Given the description of an element on the screen output the (x, y) to click on. 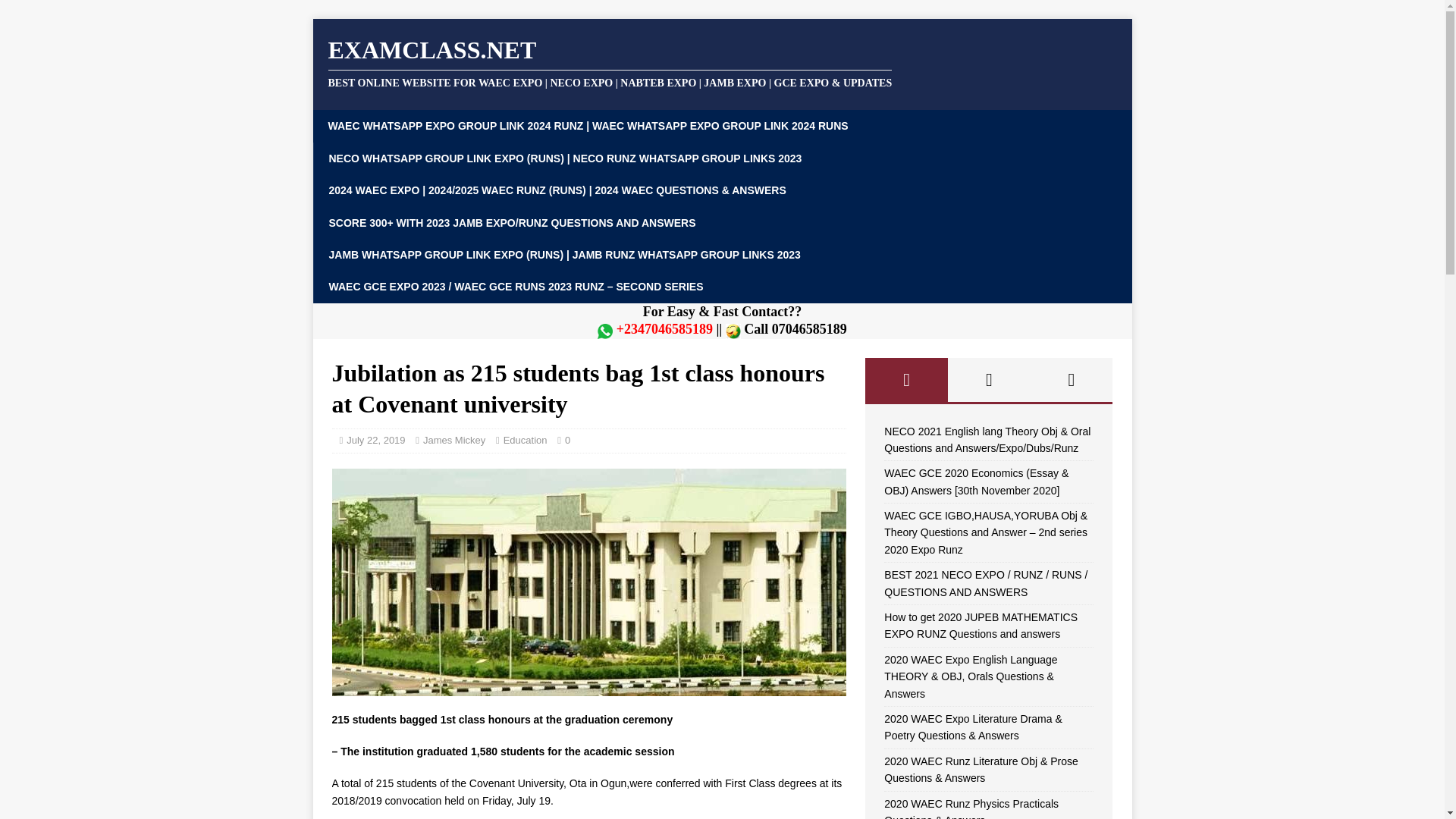
July 22, 2019 (375, 439)
EXAMCLASS.NET (721, 62)
James Mickey (453, 439)
Education (525, 439)
